Given the description of an element on the screen output the (x, y) to click on. 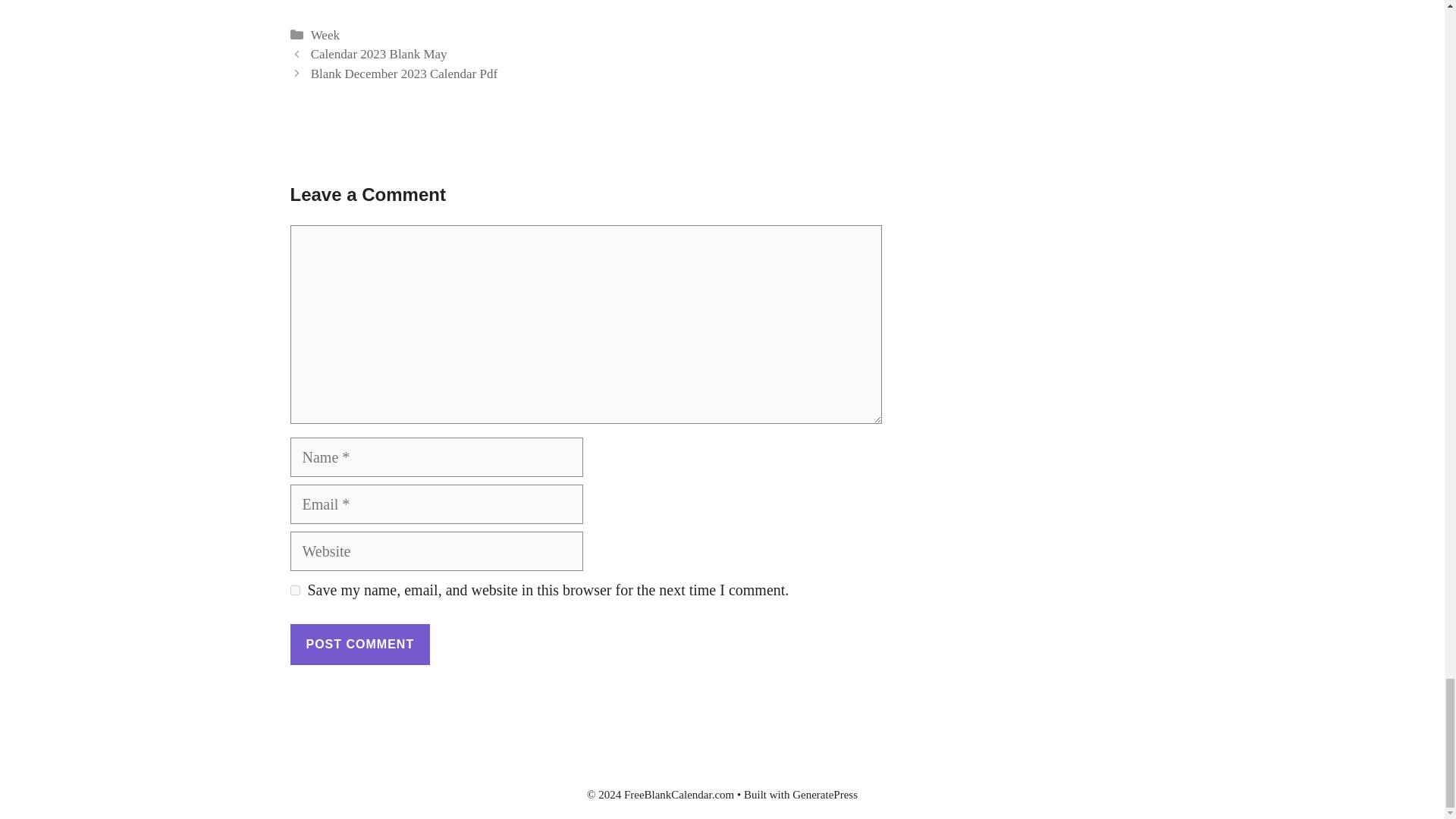
Post Comment (359, 644)
Week (325, 34)
GeneratePress (824, 794)
yes (294, 590)
Calendar 2023 Blank May (378, 53)
Blank December 2023 Calendar Pdf (404, 73)
Post Comment (359, 644)
